Given the description of an element on the screen output the (x, y) to click on. 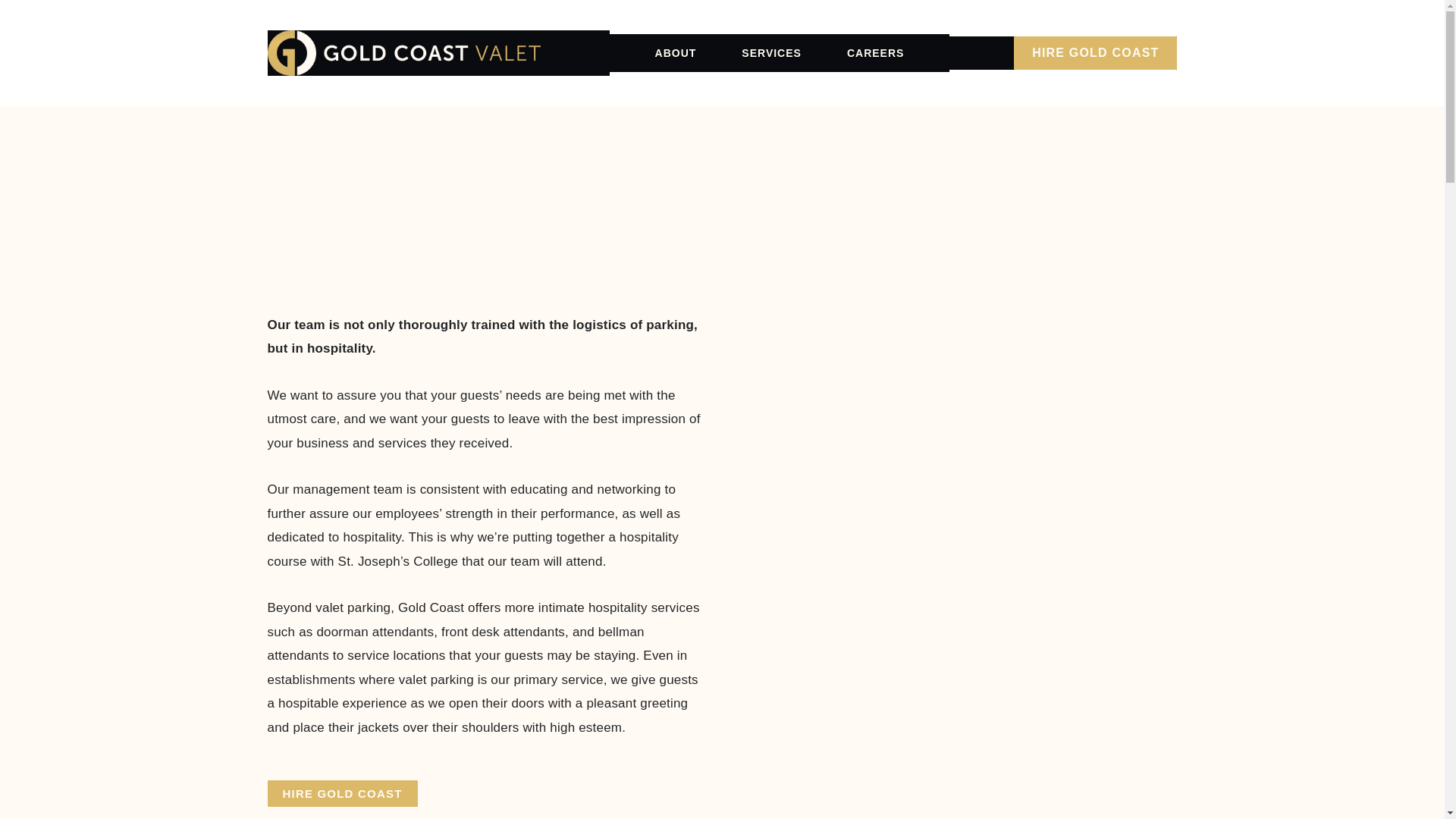
HIRE GOLD COAST (1094, 52)
CAREERS (874, 53)
ABOUT (675, 53)
SERVICES (771, 53)
